Given the description of an element on the screen output the (x, y) to click on. 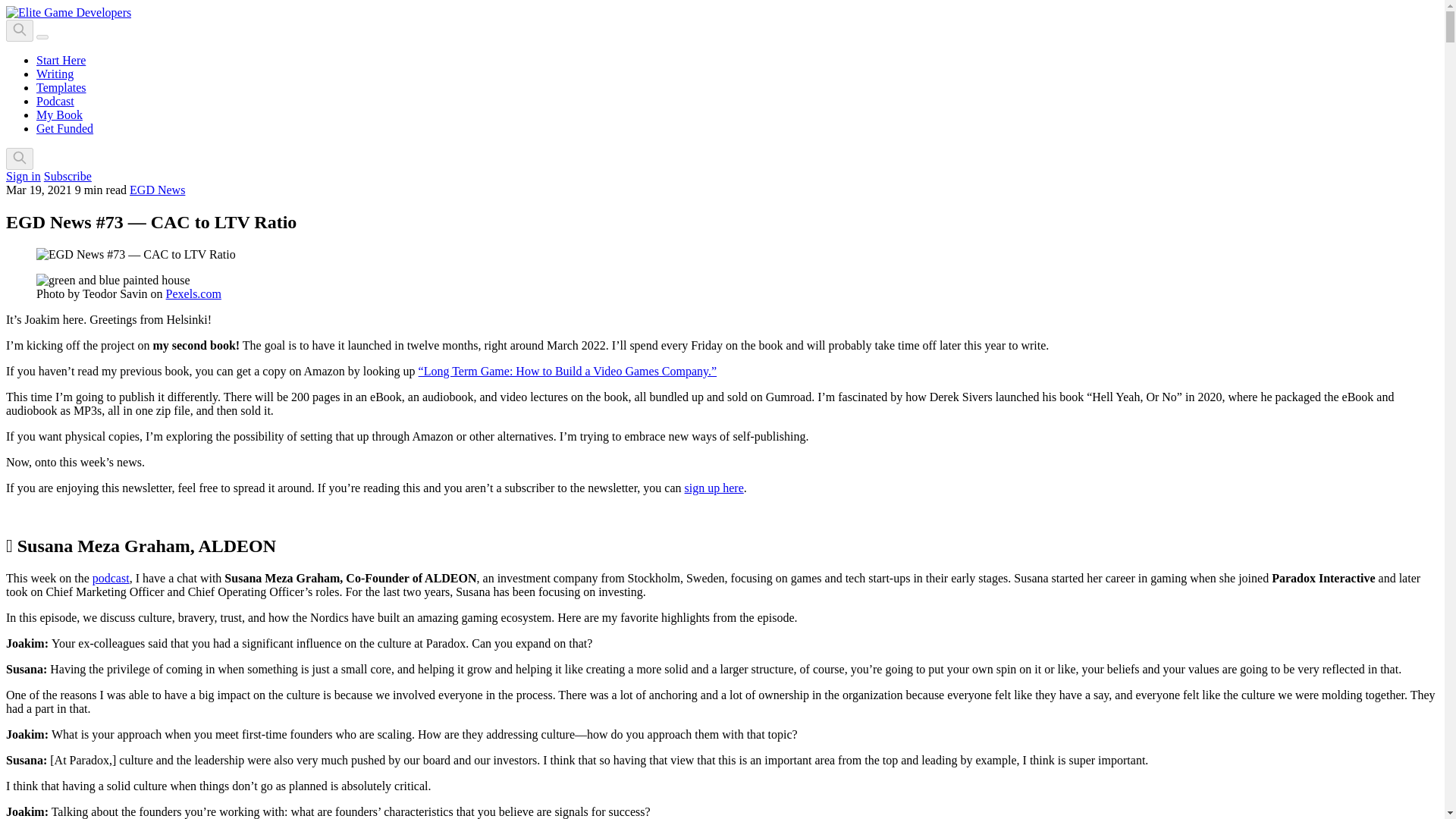
Podcast (55, 101)
EGD News (156, 189)
Pexels.com (193, 293)
Start Here (60, 60)
My Book (59, 114)
Templates (60, 87)
Writing (55, 73)
podcast (111, 577)
Subscribe (67, 175)
Sign in (22, 175)
Get Funded (64, 128)
sign up here (714, 487)
